Given the description of an element on the screen output the (x, y) to click on. 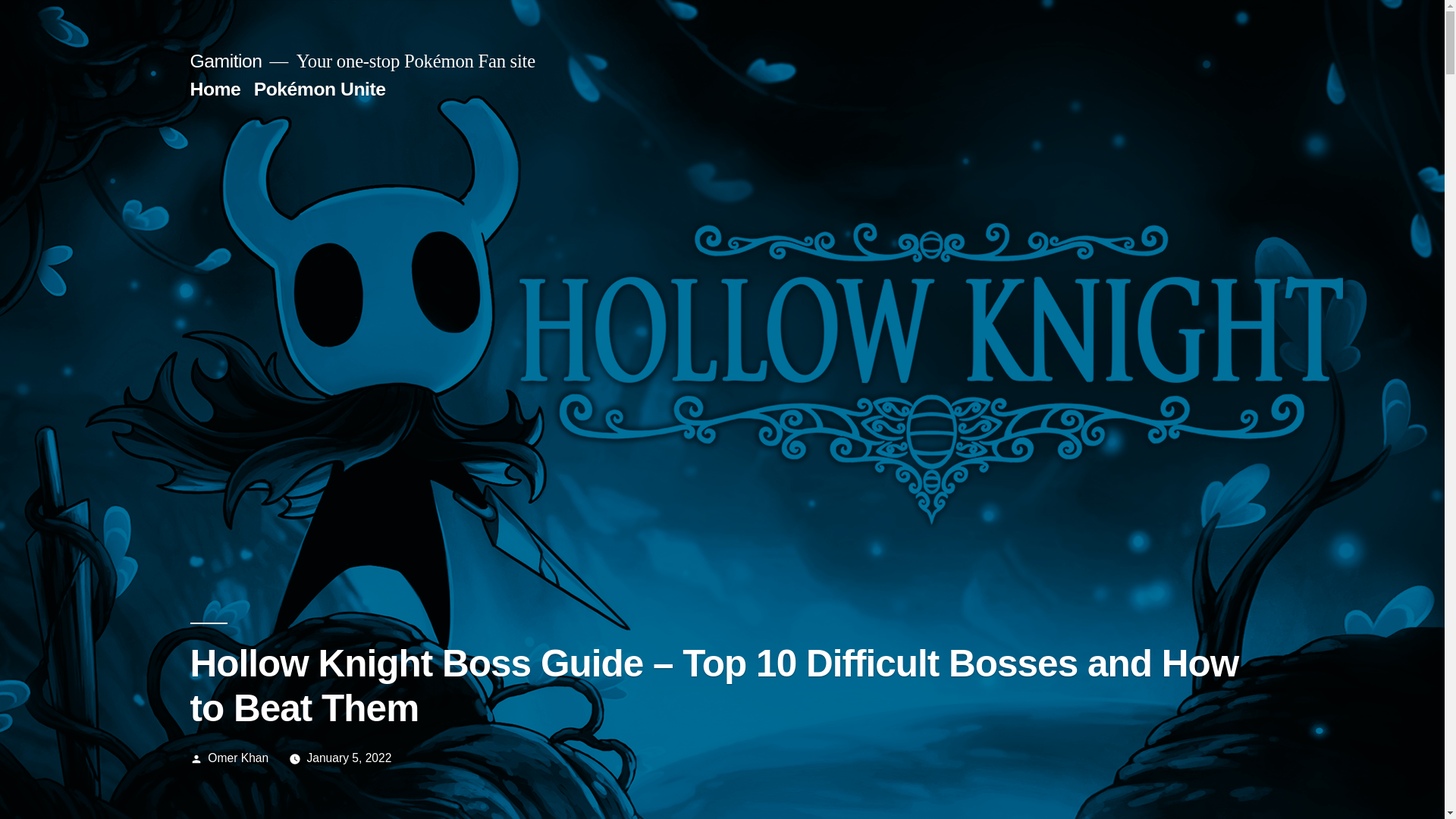
Home (214, 88)
Gamition (225, 60)
Omer Khan (237, 757)
January 5, 2022 (348, 757)
